Given the description of an element on the screen output the (x, y) to click on. 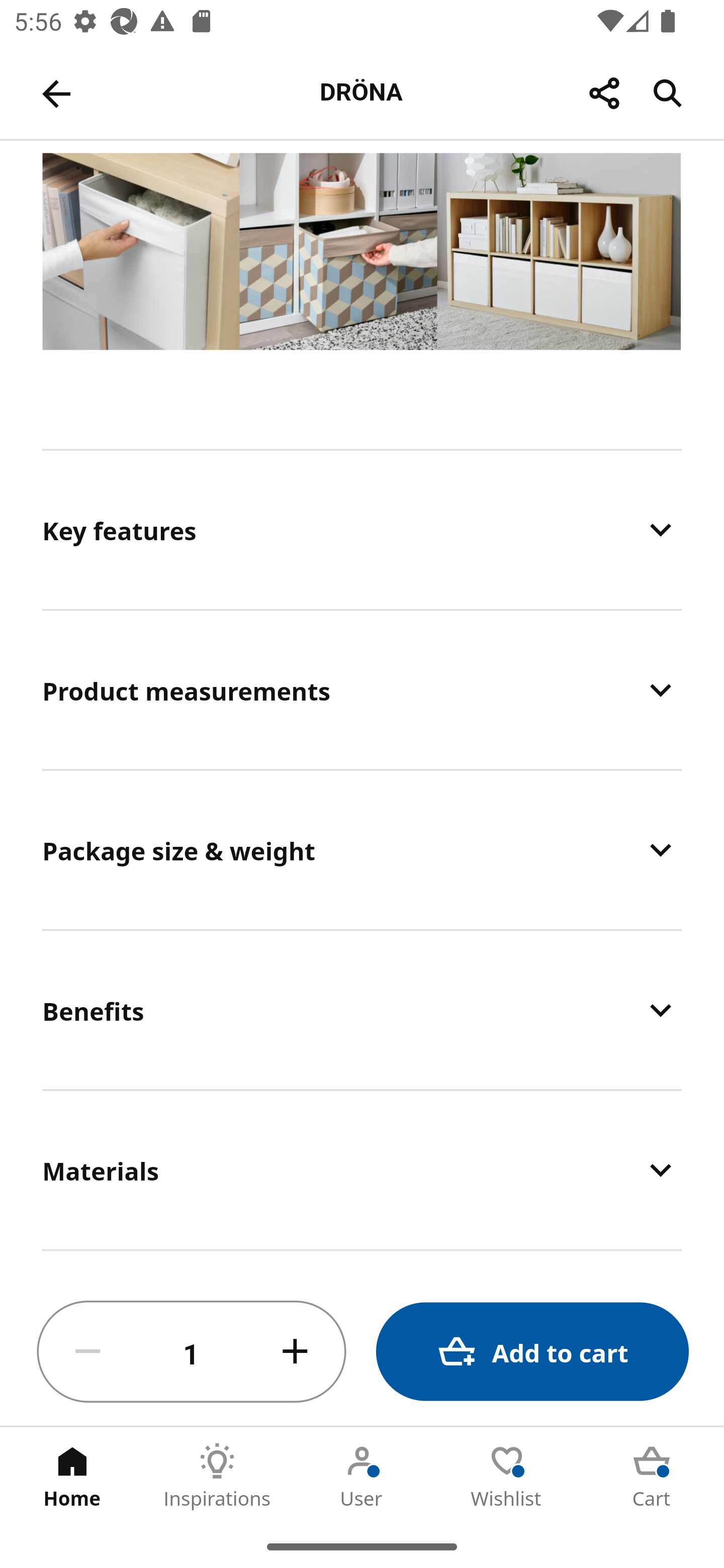
kallax (362, 271)
Key features (361, 528)
Product measurements (361, 689)
Package size & weight (361, 849)
Benefits (361, 1010)
Materials (361, 1170)
Add to cart (531, 1352)
1 (191, 1352)
Home
Tab 1 of 5 (72, 1476)
Inspirations
Tab 2 of 5 (216, 1476)
User
Tab 3 of 5 (361, 1476)
Wishlist
Tab 4 of 5 (506, 1476)
Cart
Tab 5 of 5 (651, 1476)
